Given the description of an element on the screen output the (x, y) to click on. 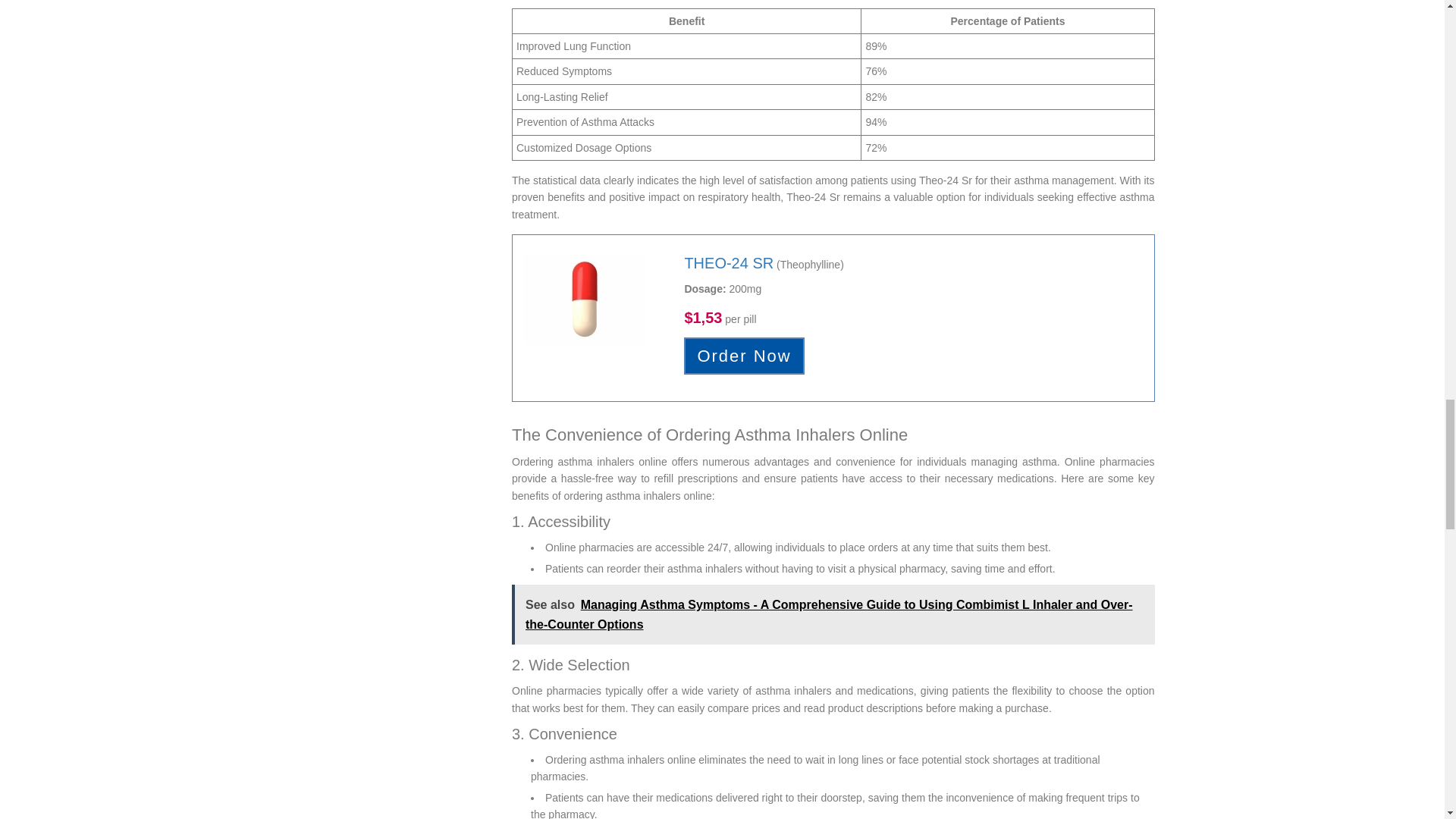
Order Now (743, 355)
